Given the description of an element on the screen output the (x, y) to click on. 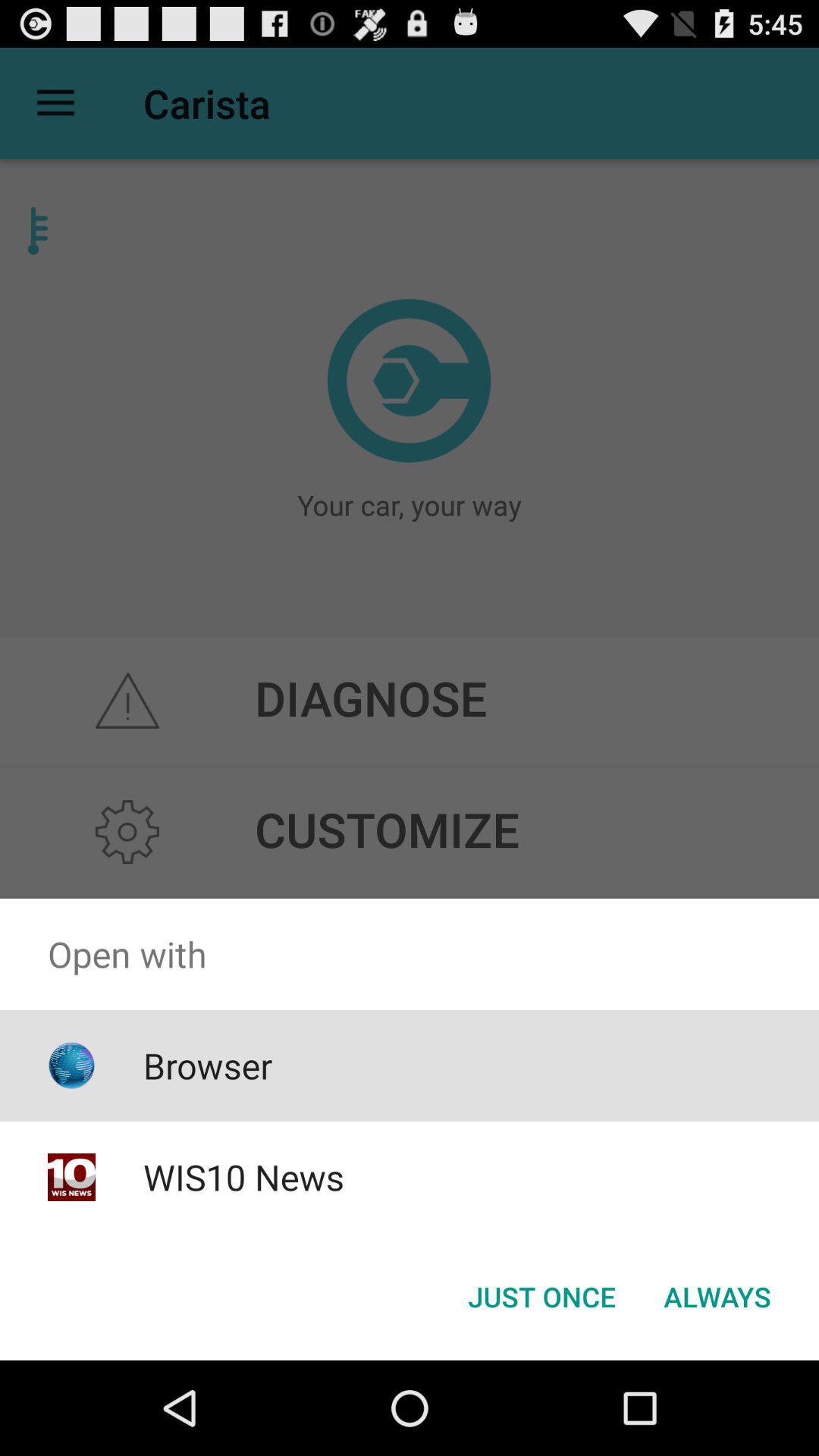
tap the item above wis10 news icon (207, 1065)
